Given the description of an element on the screen output the (x, y) to click on. 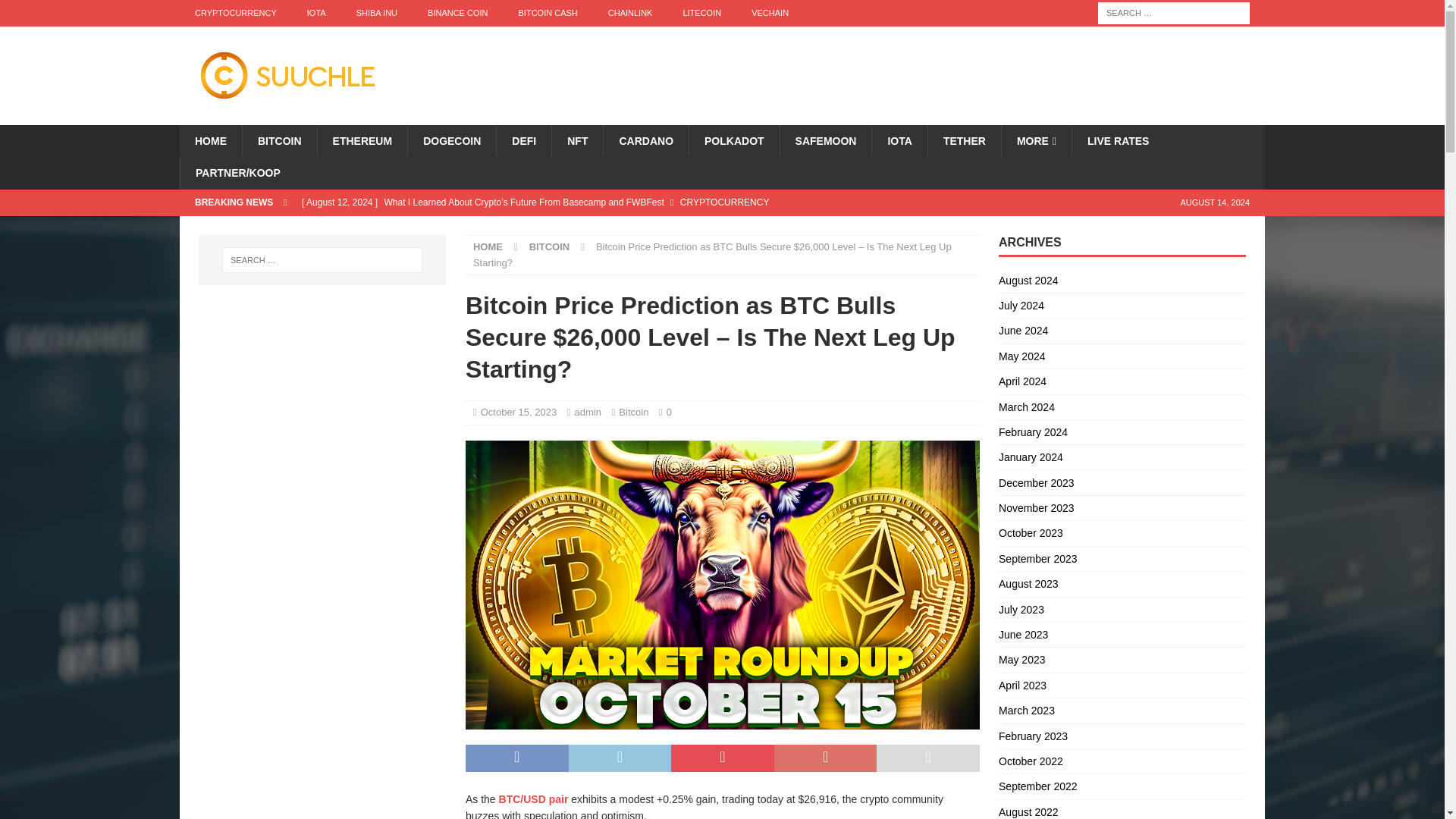
BINANCE COIN (457, 13)
BITCOIN CASH (547, 13)
CRYPTOCURRENCY (235, 13)
VECHAIN (769, 13)
SHIBA INU (376, 13)
LITECOIN (701, 13)
Search (56, 11)
IOTA (316, 13)
CHAINLINK (630, 13)
